Given the description of an element on the screen output the (x, y) to click on. 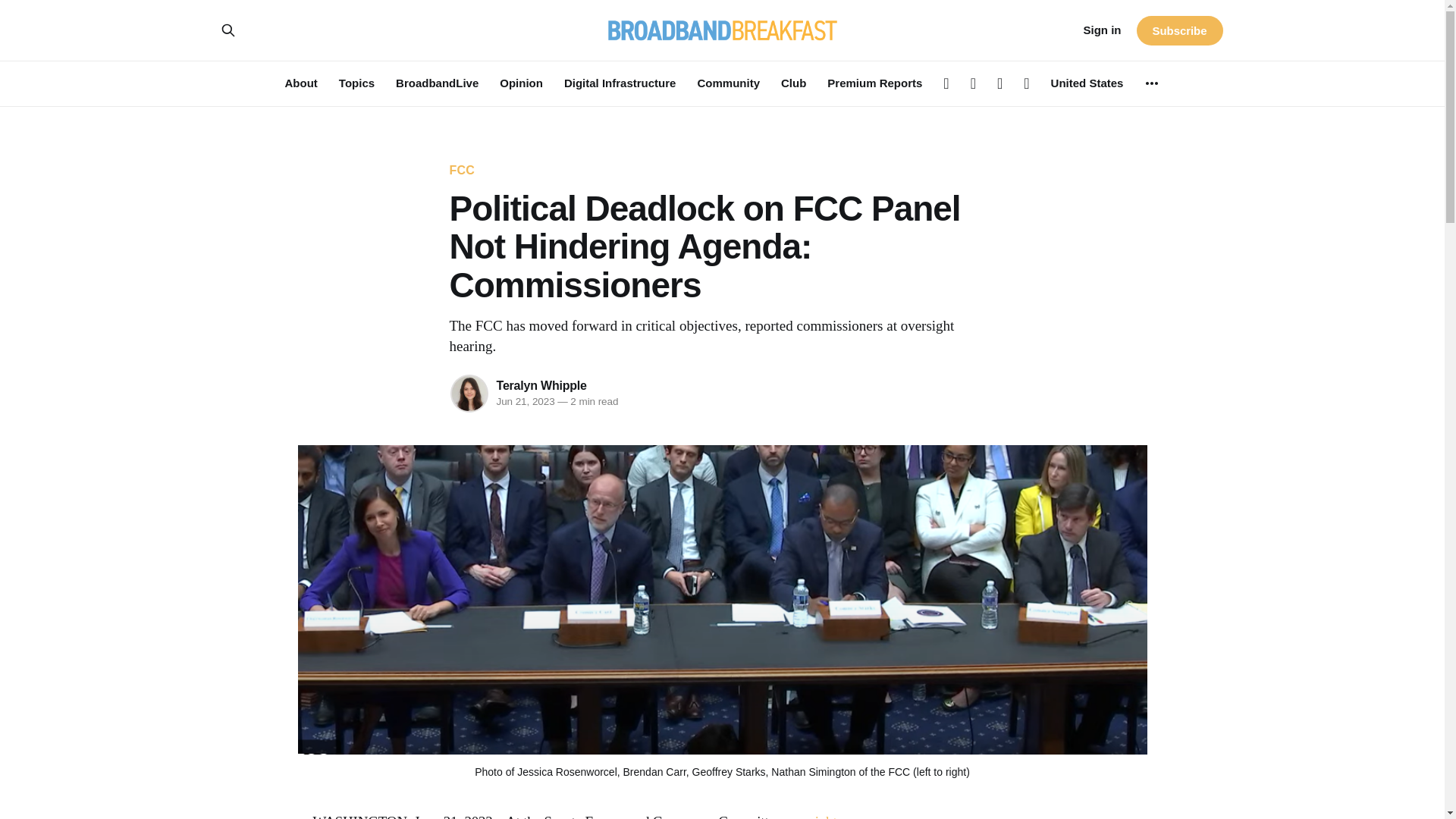
United States (1087, 82)
Opinion (521, 82)
Digital Infrastructure (620, 82)
Premium Reports (874, 82)
Topics (356, 82)
BroadbandLive (437, 82)
Community (728, 82)
About (301, 82)
Club (793, 82)
